Given the description of an element on the screen output the (x, y) to click on. 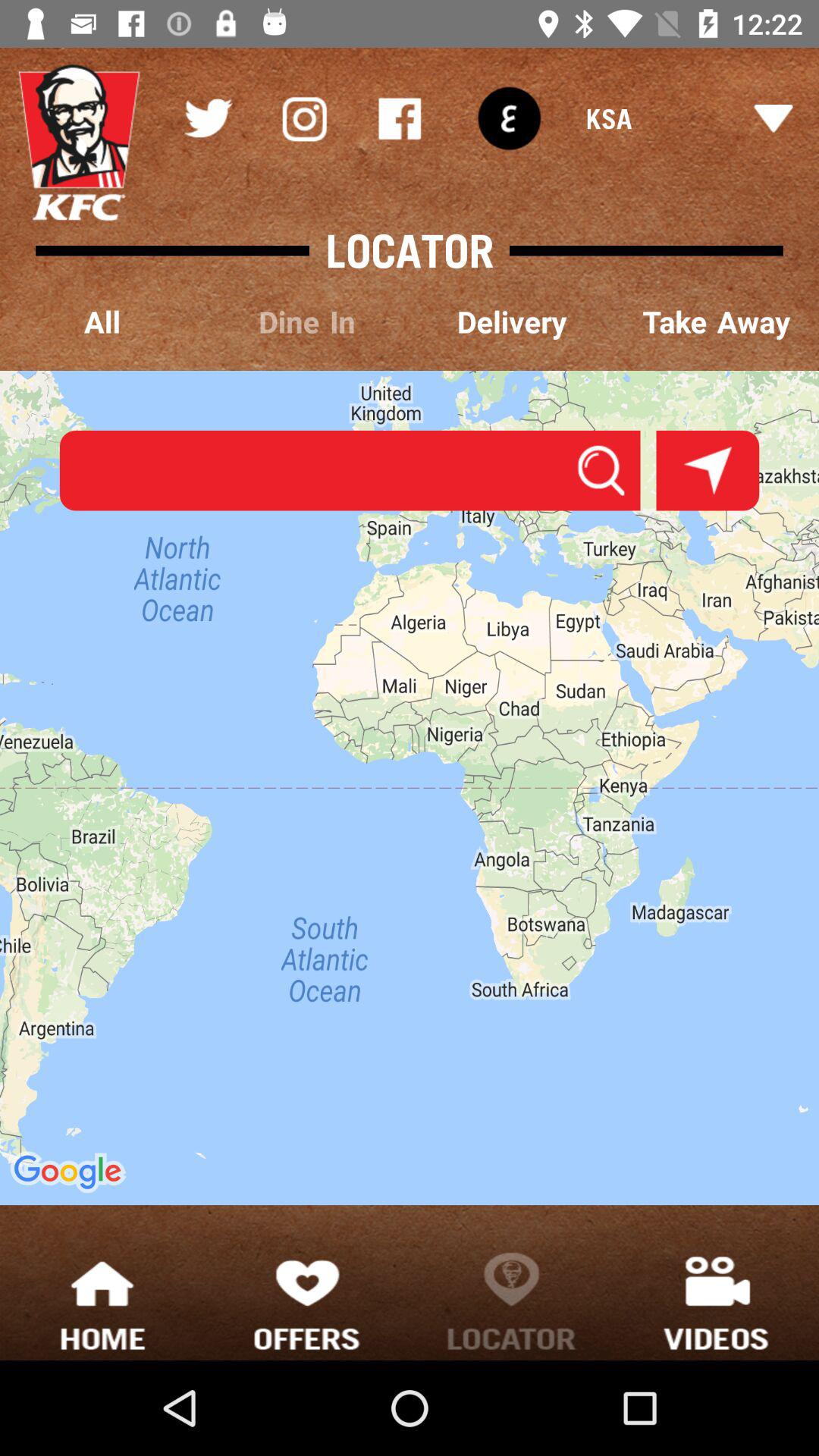
select the item to the right of dine in item (511, 322)
